Given the description of an element on the screen output the (x, y) to click on. 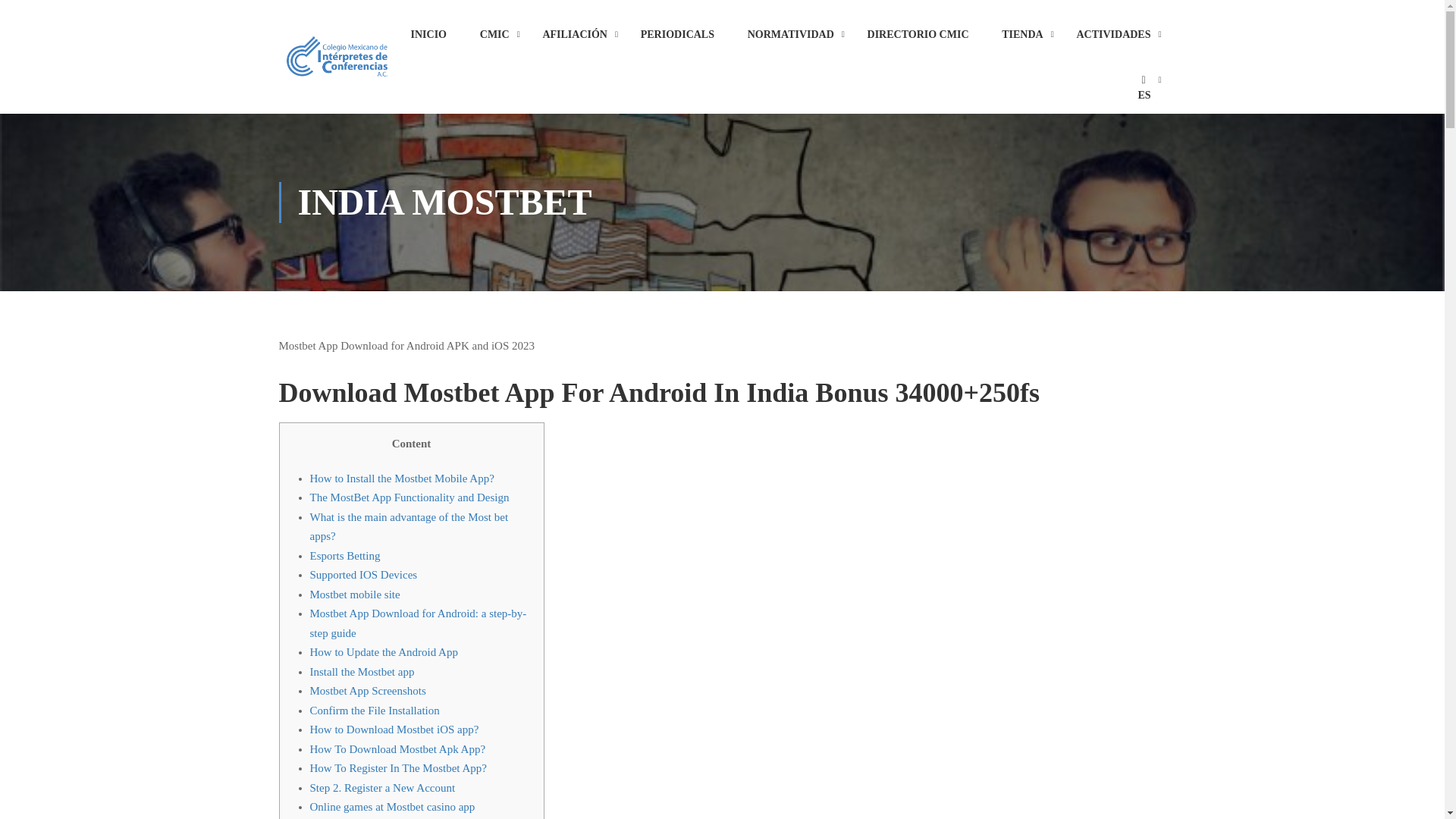
INICIO (428, 41)
